Given the description of an element on the screen output the (x, y) to click on. 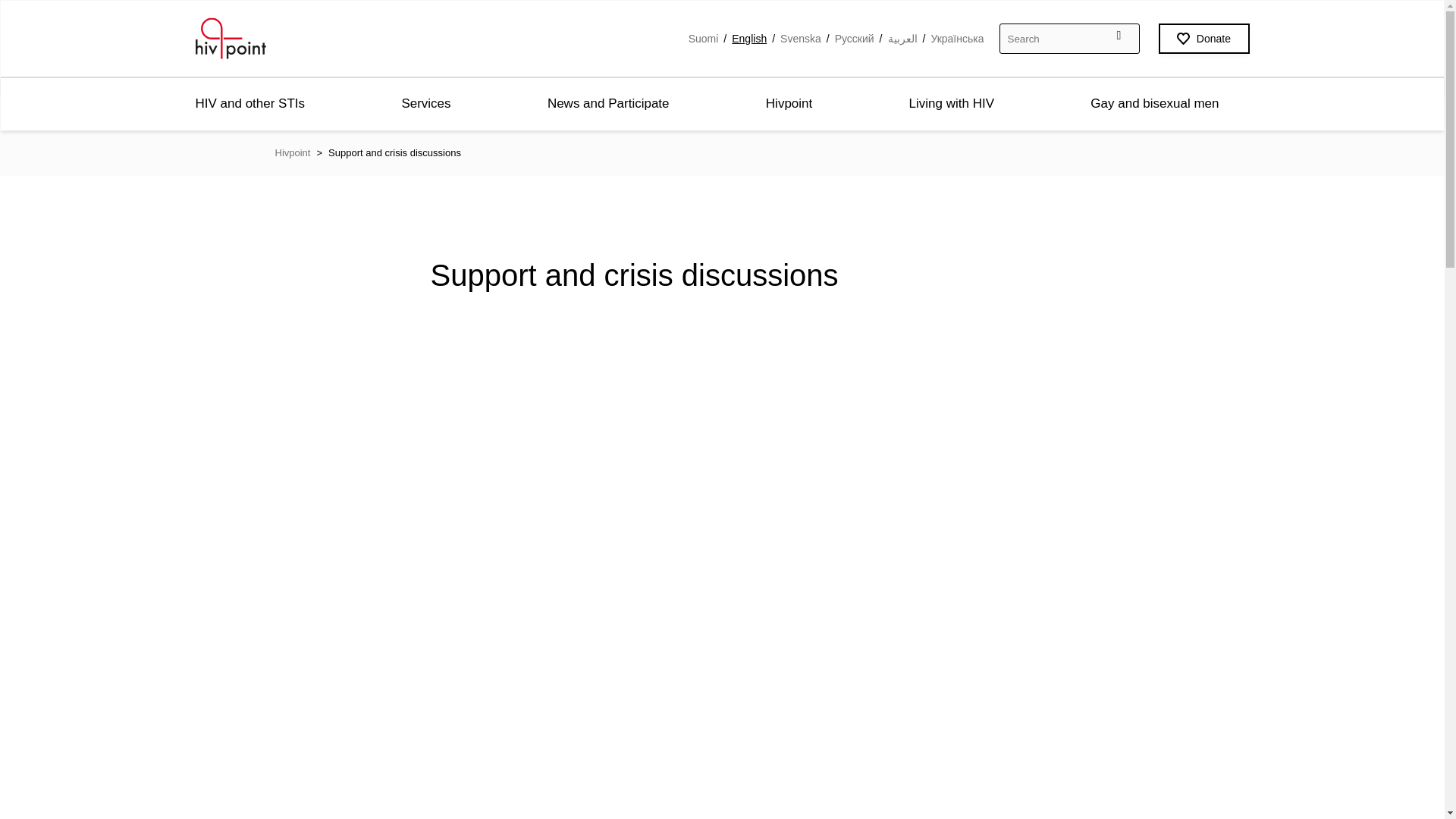
Hivpoint (788, 103)
Suomi (703, 37)
Svenska (800, 37)
News and Participate (608, 103)
Living with HIV (951, 103)
Services (425, 103)
Submit search (1151, 35)
Donate (1203, 38)
HIV and other STIs (250, 103)
English (749, 37)
